Given the description of an element on the screen output the (x, y) to click on. 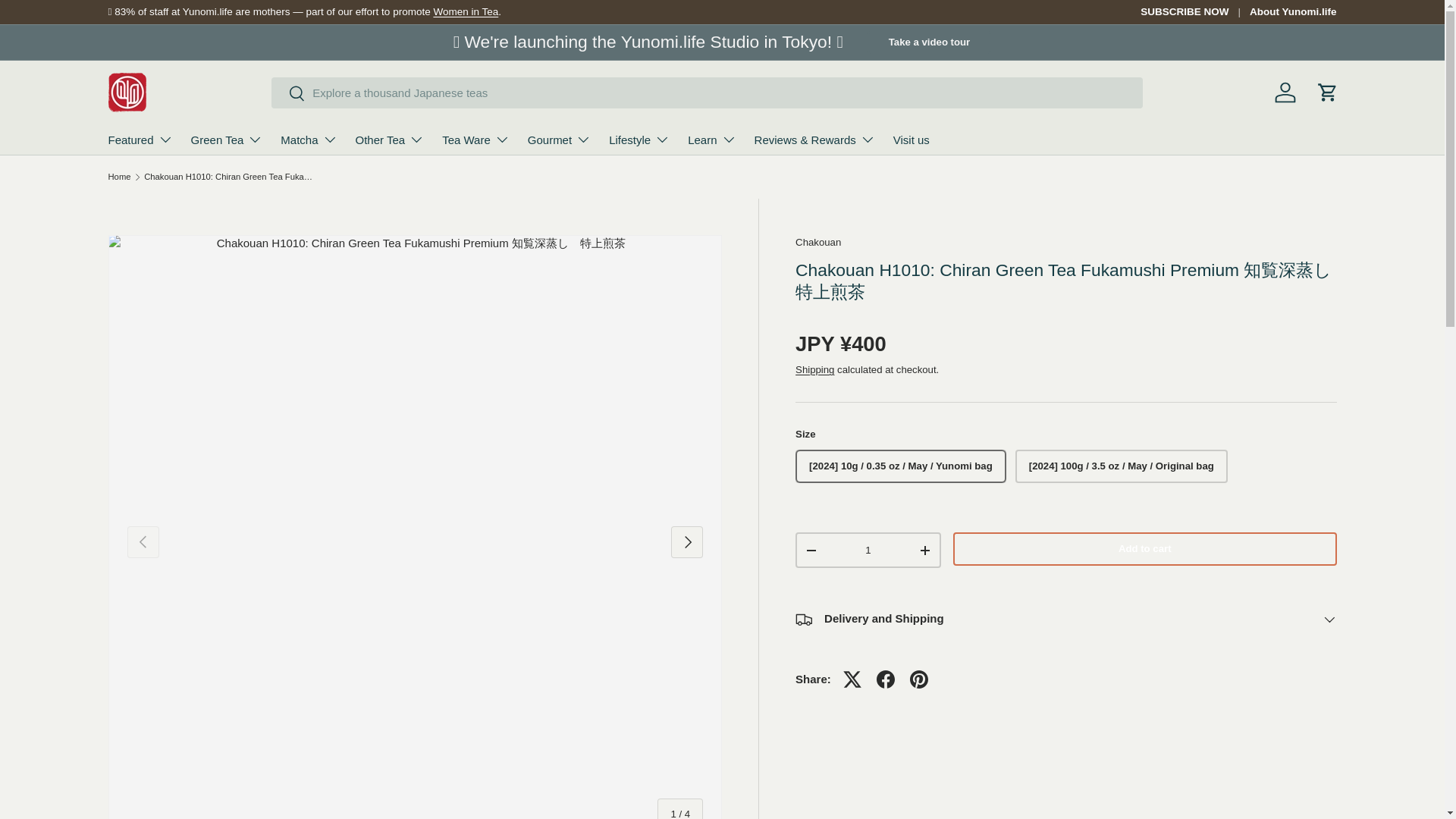
Tweet on X (852, 679)
Cart (1326, 92)
1 (868, 550)
Featured (139, 139)
Share on Facebook (885, 679)
Take a video tour (929, 42)
Women in Tea (464, 11)
Pin on Pinterest (919, 679)
SUBSCRIBE NOW (1194, 11)
Search (287, 94)
Green Tea (226, 139)
Women in Tea (464, 11)
Log in (1284, 92)
Skip to content (69, 21)
About Yunomi.life (1292, 11)
